Given the description of an element on the screen output the (x, y) to click on. 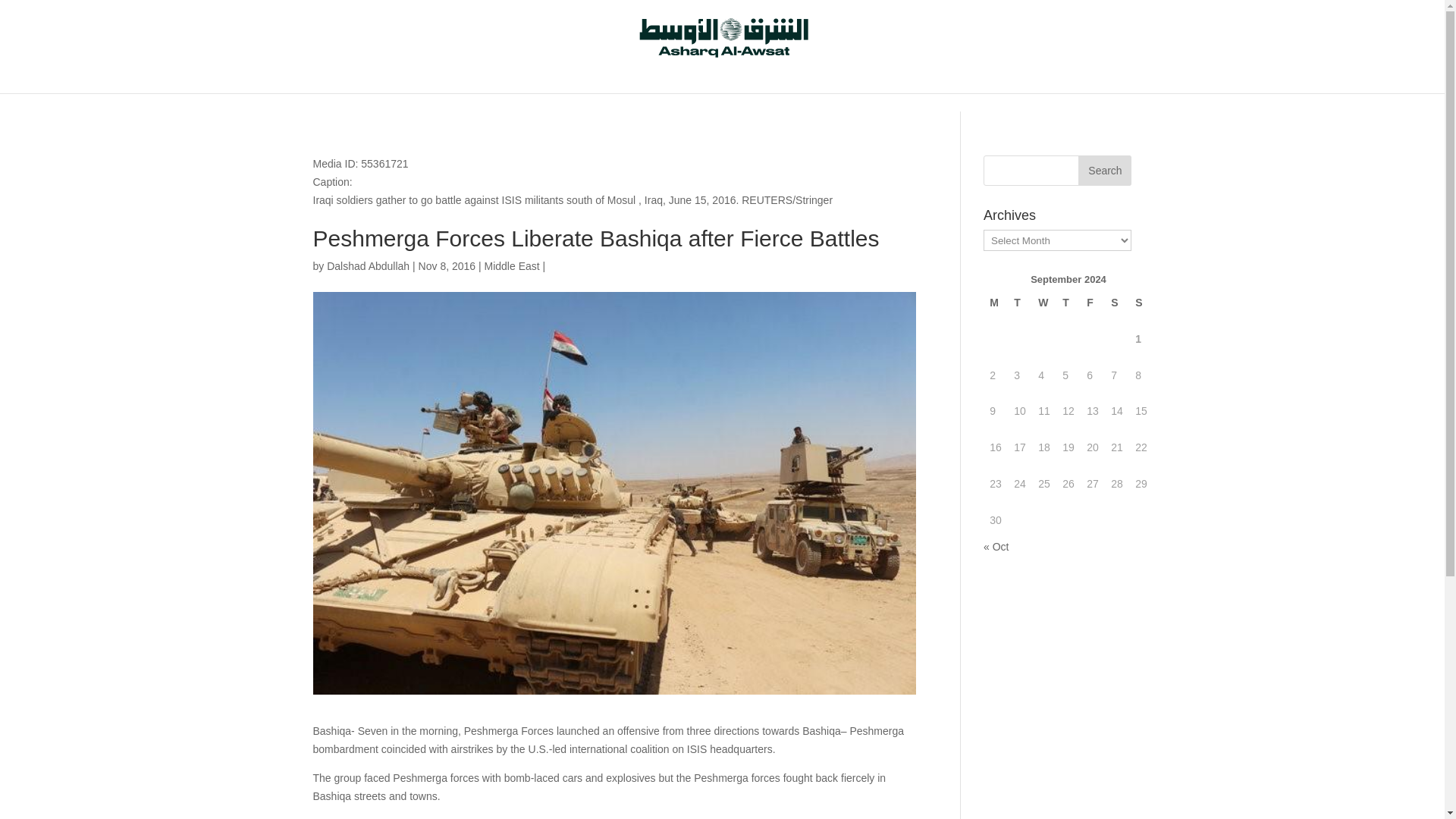
Middle East (512, 265)
Posts by Dalshad Abdullah (367, 265)
Search (1104, 170)
Dalshad Abdullah (367, 265)
Search (1104, 170)
